Given the description of an element on the screen output the (x, y) to click on. 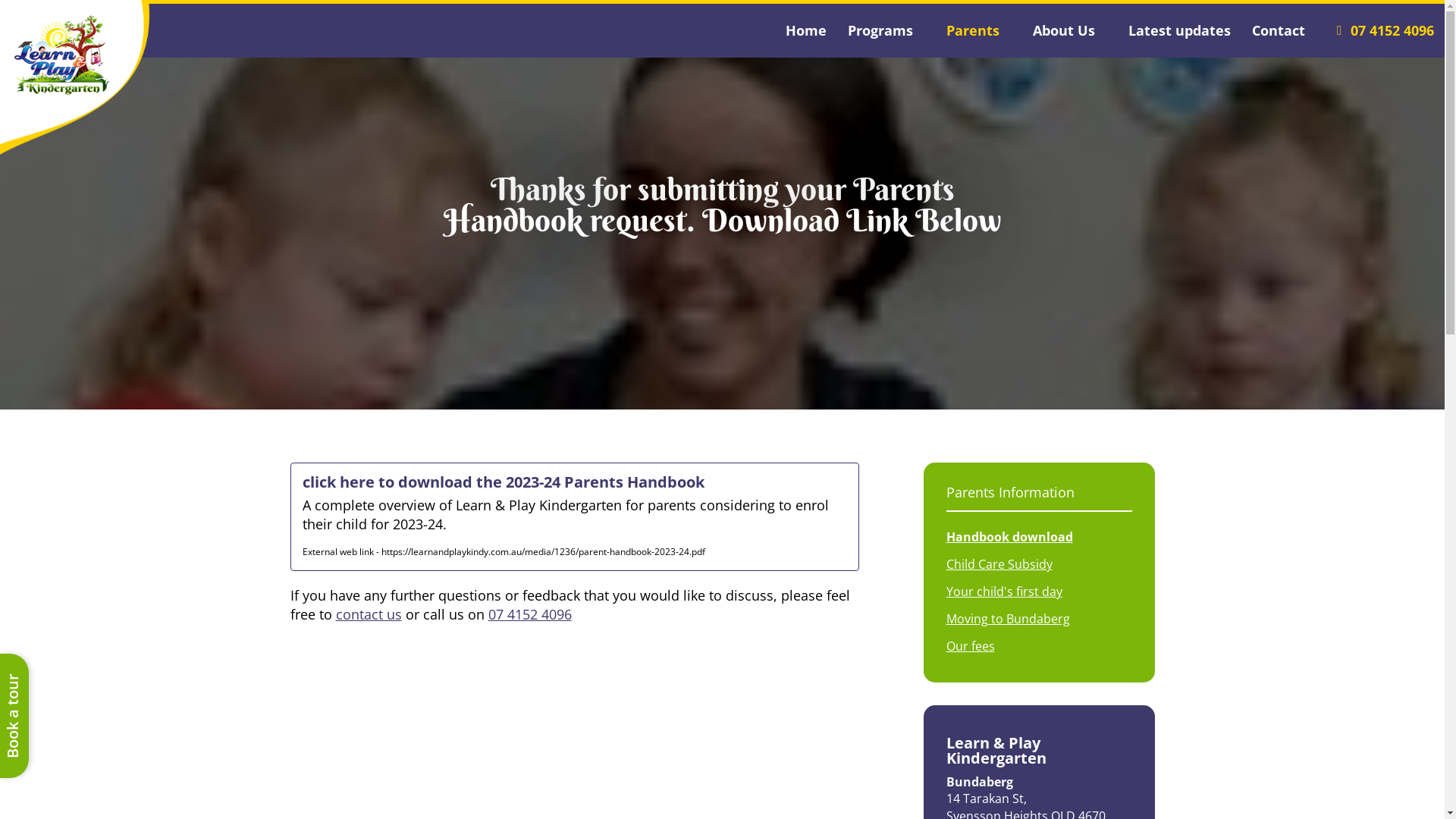
Skip to the content Element type: text (721, 12)
Parents Element type: text (978, 30)
Parents Information Element type: text (1039, 491)
Contact Element type: text (1284, 30)
07 4152 4096 Element type: text (1385, 30)
Latest updates Element type: text (1179, 30)
Our fees Element type: text (1039, 645)
Your child's first day Element type: text (1039, 591)
Child Care Subsidy Element type: text (1039, 563)
contact us Element type: text (368, 614)
Programs Element type: text (886, 30)
Learn & Play Kindergarten Element type: text (61, 54)
Handbook download Element type: text (1039, 536)
07 4152 4096 Element type: text (529, 614)
Moving to Bundaberg Element type: text (1039, 618)
About Us Element type: text (1069, 30)
Home Element type: text (806, 30)
